Given the description of an element on the screen output the (x, y) to click on. 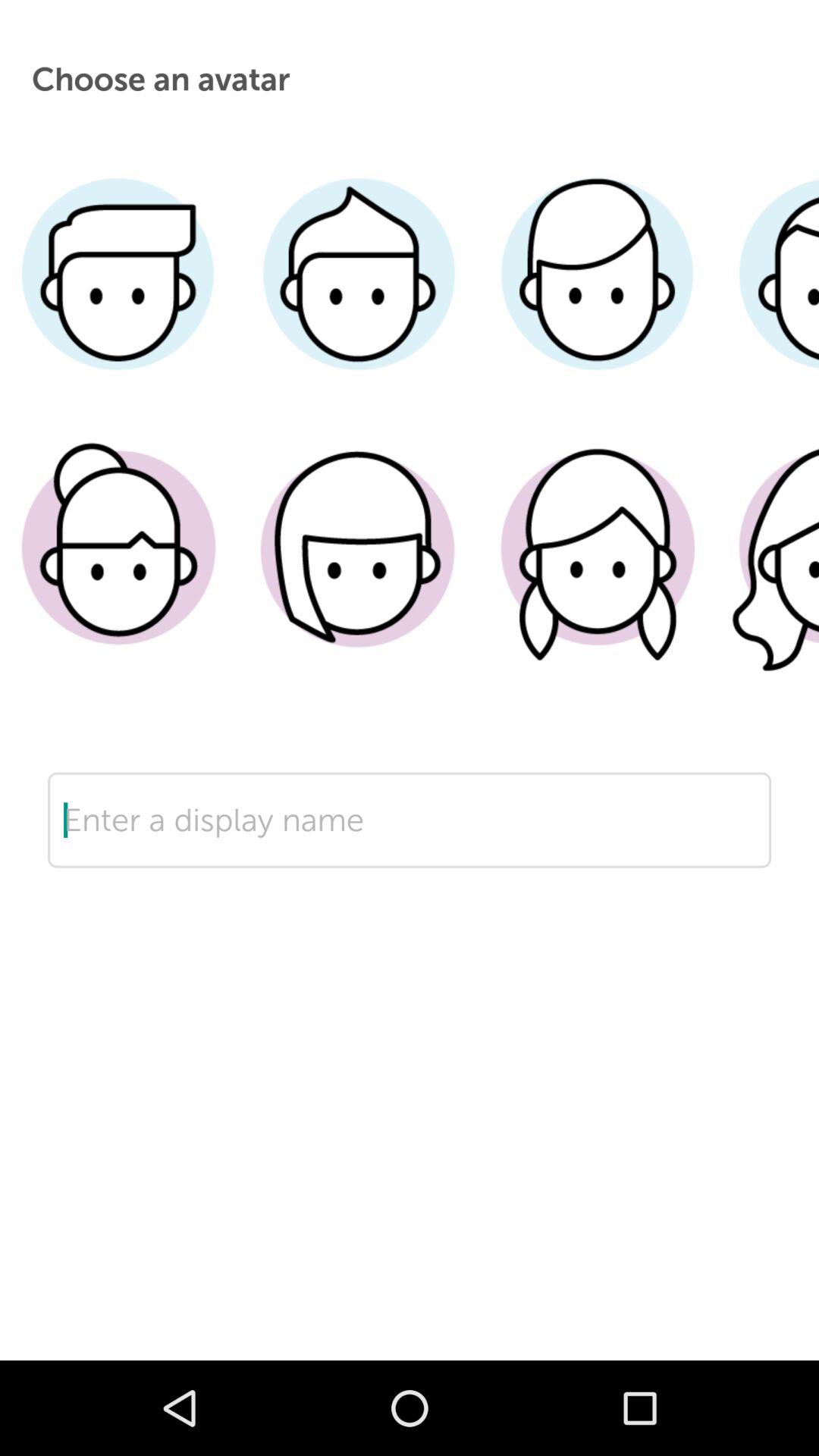
choose this female avatar (767, 570)
